Given the description of an element on the screen output the (x, y) to click on. 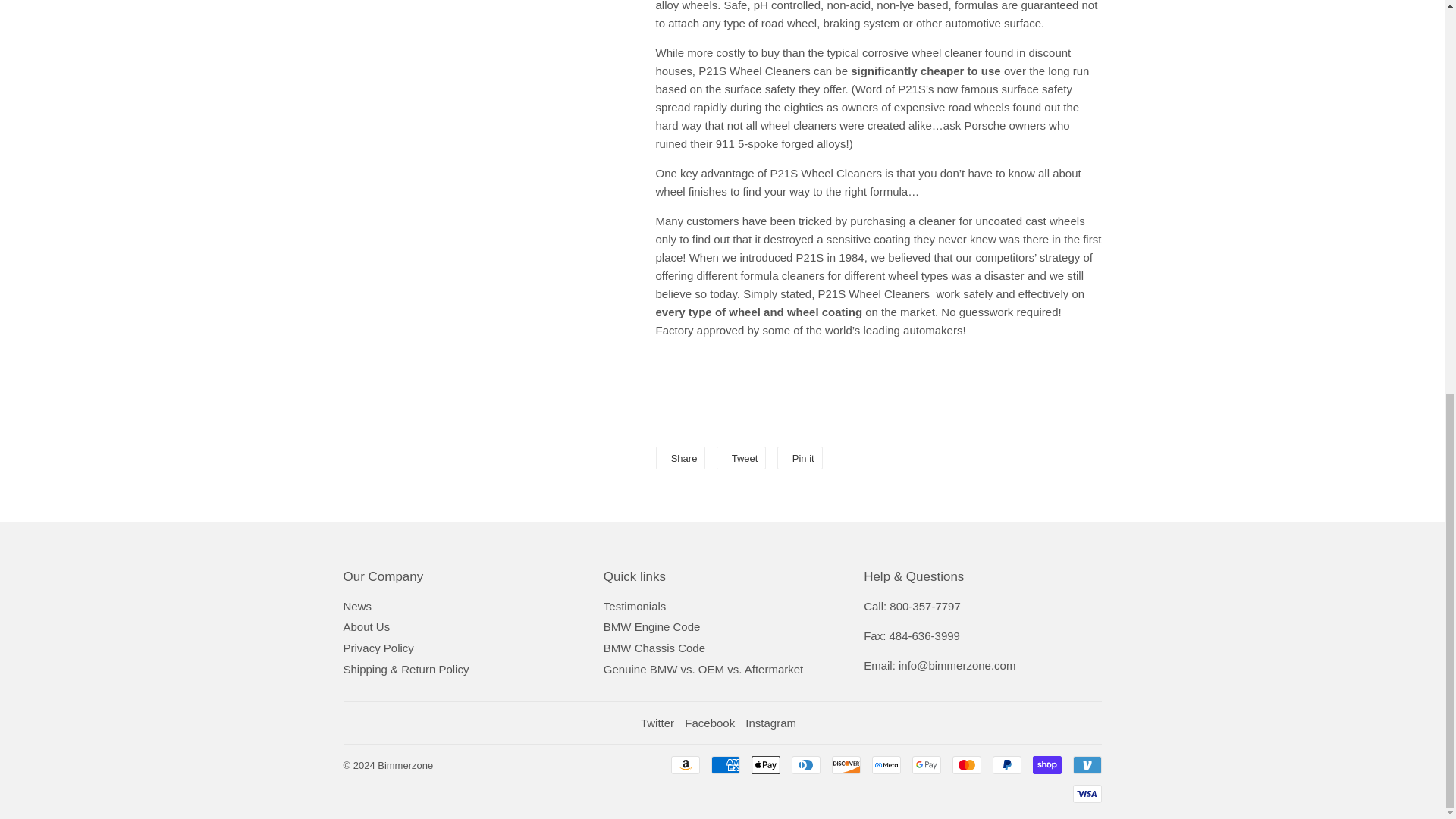
Visa (1085, 793)
Share on Facebook (679, 457)
Bimmerzone on Facebook (709, 722)
Tweet on Twitter (741, 457)
Diners Club (806, 764)
Pin on Pinterest (799, 457)
Shop Pay (1046, 764)
Apple Pay (764, 764)
PayPal (1005, 764)
Amazon (683, 764)
Bimmerzone on Twitter (657, 722)
Meta Pay (886, 764)
American Express (725, 764)
Discover (845, 764)
Bimmerzone on Instagram (770, 722)
